Given the description of an element on the screen output the (x, y) to click on. 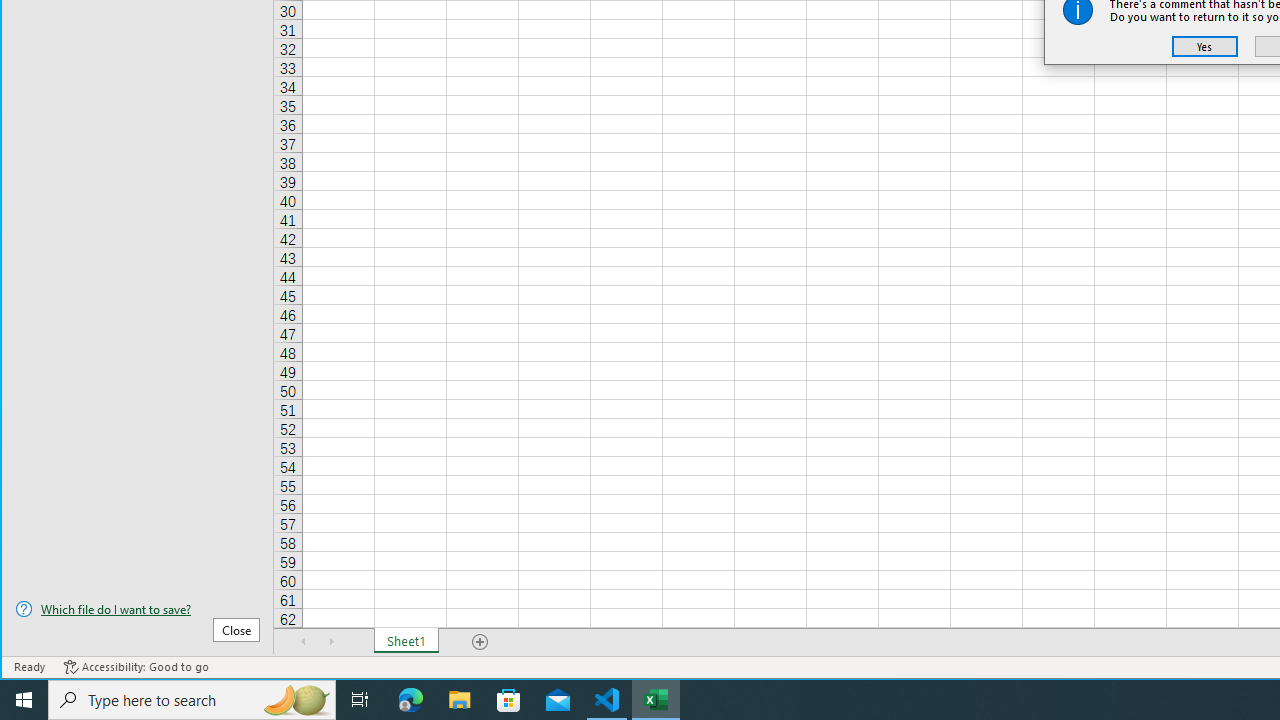
Visual Studio Code - 1 running window (607, 699)
Yes (1205, 46)
Microsoft Edge (411, 699)
Microsoft Store (509, 699)
File Explorer (460, 699)
Type here to search (191, 699)
Search highlights icon opens search home window (295, 699)
Excel - 1 running window (656, 699)
